Given the description of an element on the screen output the (x, y) to click on. 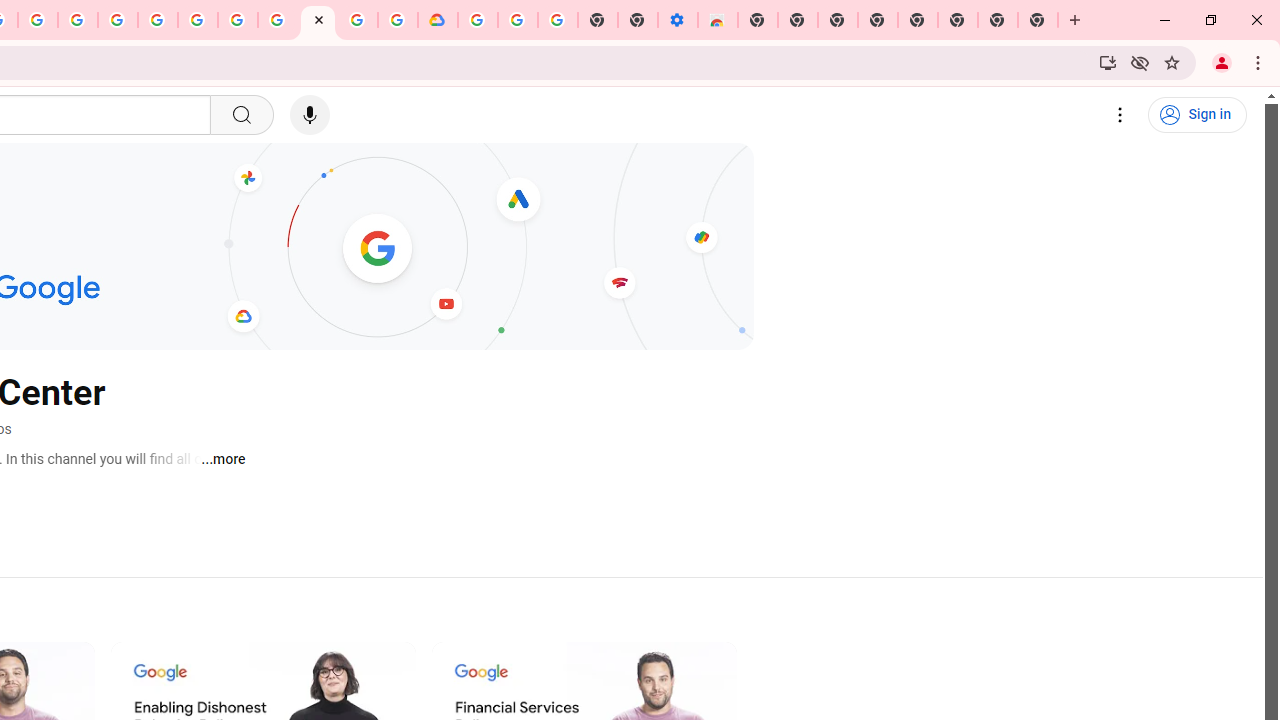
Search (240, 115)
Google Account Help (517, 20)
Google Transparency Center - YouTube (317, 20)
Create your Google Account (37, 20)
Google Account Help (237, 20)
Search with your voice (309, 115)
Create your Google Account (357, 20)
Install YouTube (1107, 62)
